Given the description of an element on the screen output the (x, y) to click on. 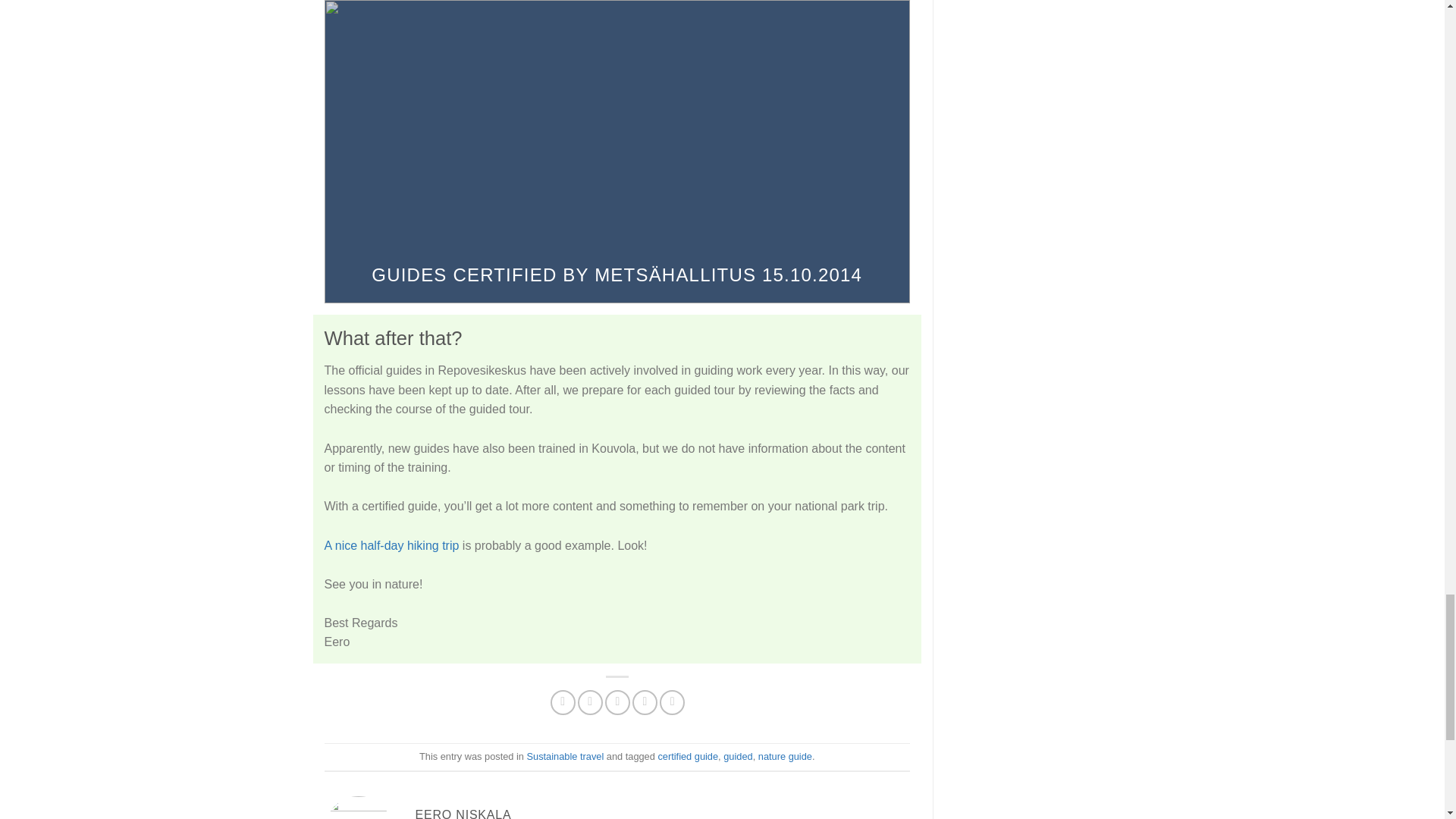
Share on Twitter (590, 702)
Share on LinkedIn (671, 702)
Email to a Friend (617, 702)
Share on Facebook (562, 702)
A nice half-day hiking trip (392, 544)
Pin on Pinterest (644, 702)
